Given the description of an element on the screen output the (x, y) to click on. 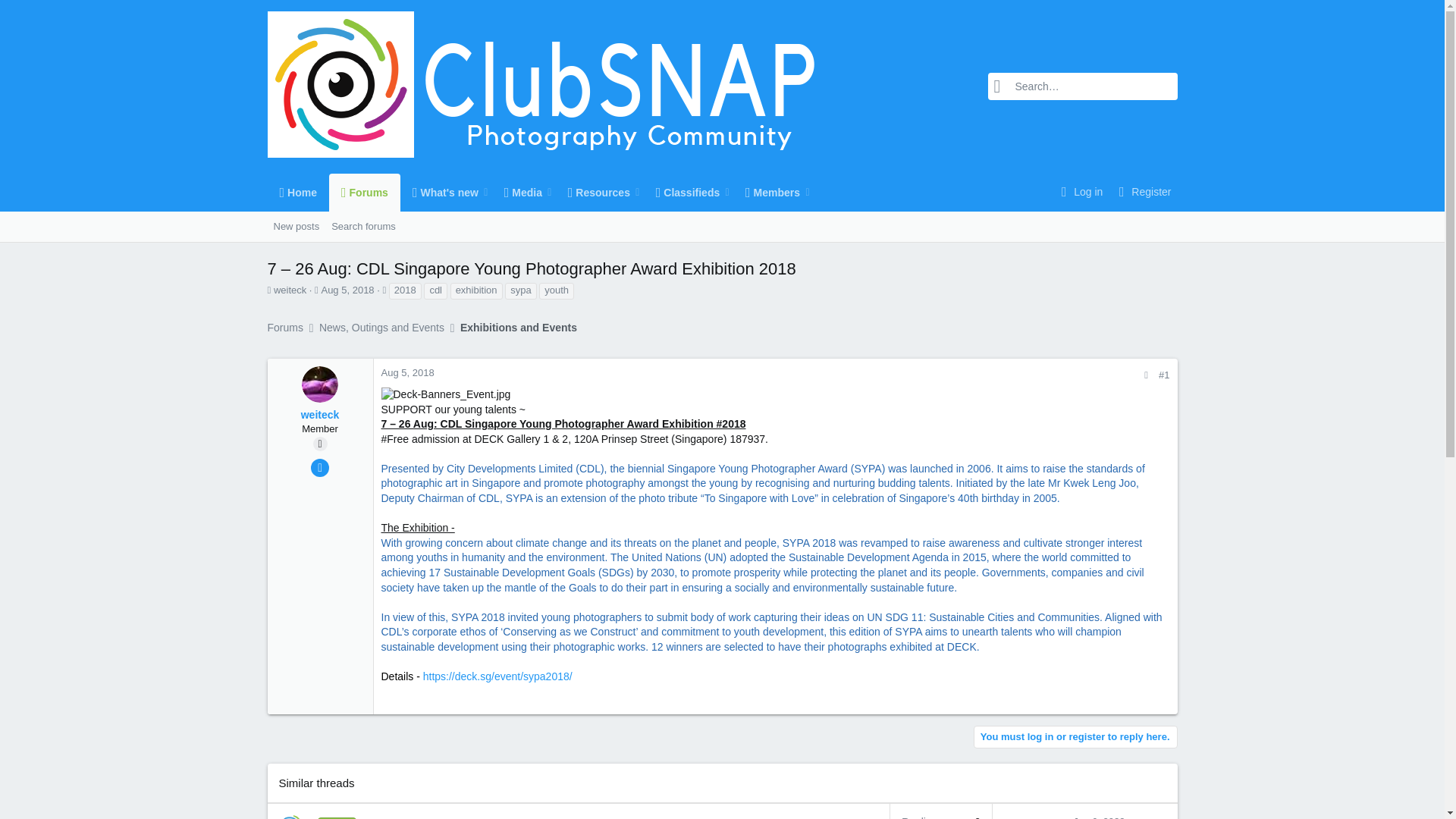
Resources (333, 226)
Forums (593, 192)
Aug 5, 2018 at 9:45 AM (364, 192)
Original poster (347, 289)
Home (319, 443)
Media (539, 192)
What's new (297, 192)
